Given the description of an element on the screen output the (x, y) to click on. 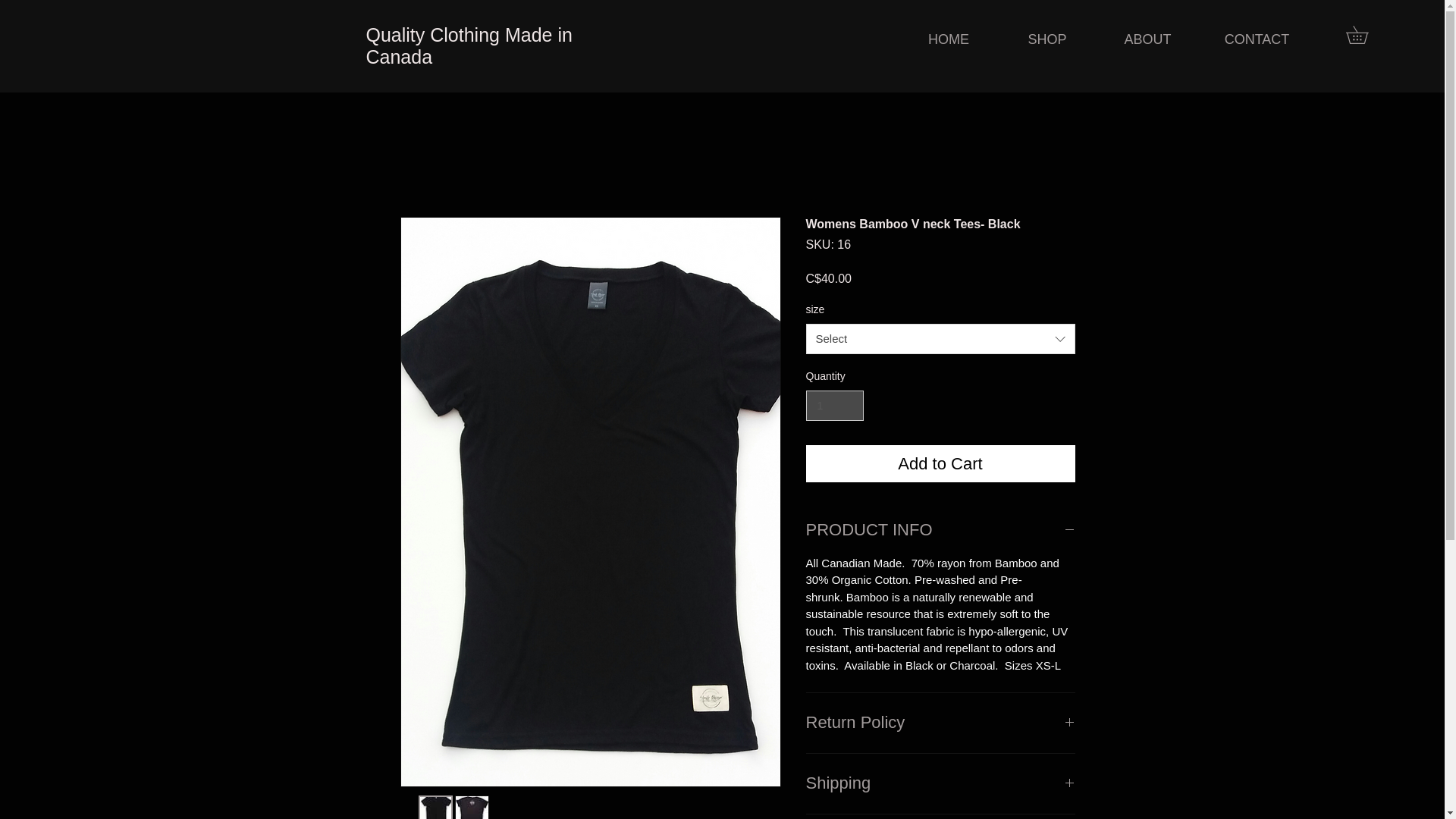
PRODUCT INFO (939, 530)
CONTACT (1256, 39)
Add to Cart (939, 463)
1 (834, 405)
Return Policy (939, 722)
Shipping (939, 783)
SHOP (1047, 39)
Select (939, 338)
ABOUT (1147, 39)
HOME (948, 39)
